Given the description of an element on the screen output the (x, y) to click on. 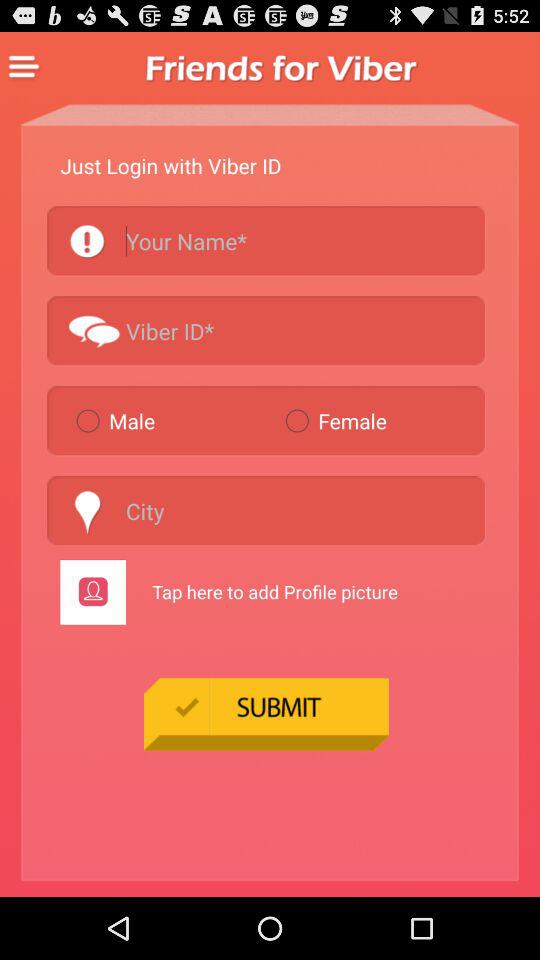
turn on female (380, 420)
